Given the description of an element on the screen output the (x, y) to click on. 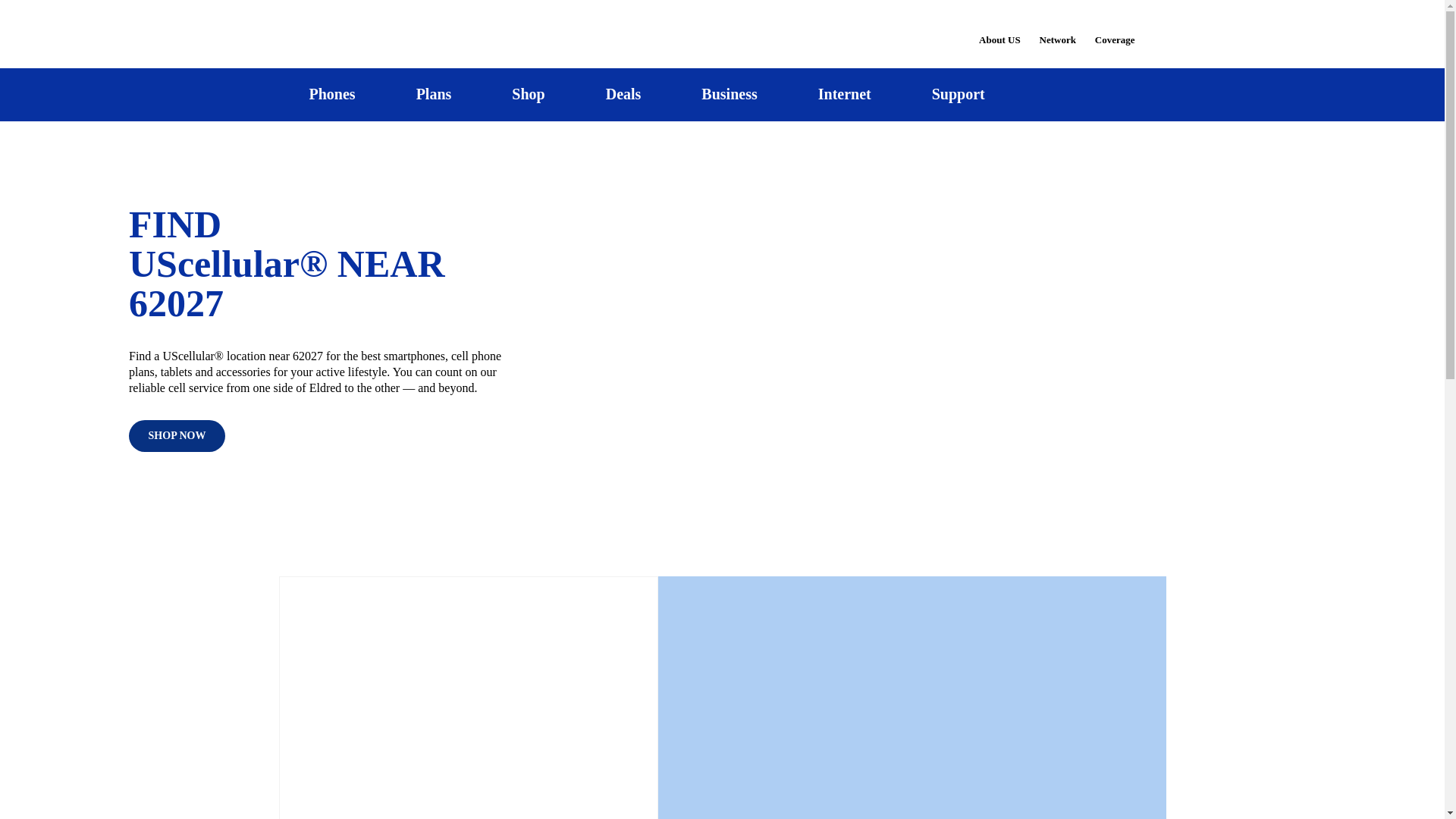
Plans (433, 94)
Shop (528, 94)
Network (1057, 30)
Internet (844, 94)
About US (999, 30)
Deals (623, 94)
Business (729, 94)
SHOP NOW (177, 436)
Phones (332, 94)
Support (957, 94)
